Given the description of an element on the screen output the (x, y) to click on. 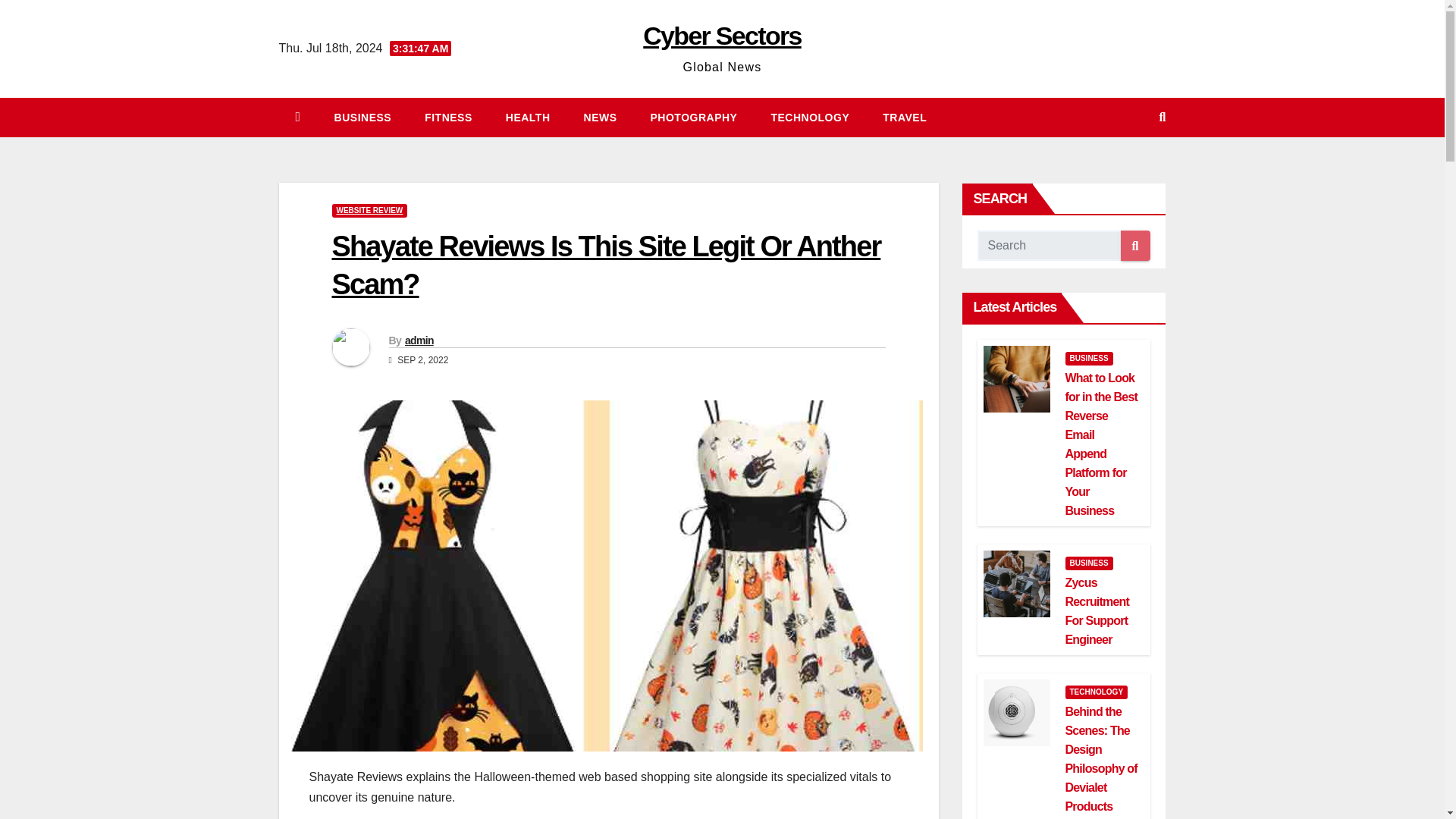
WEBSITE REVIEW (369, 210)
Shayate Reviews Is This Site Legit Or Anther Scam? (605, 264)
News (600, 117)
TRAVEL (904, 117)
FITNESS (448, 117)
photography (693, 117)
PHOTOGRAPHY (693, 117)
Travel (904, 117)
HEALTH (528, 117)
Cyber Sectors (721, 35)
admin (418, 340)
TECHNOLOGY (810, 117)
Business (363, 117)
NEWS (600, 117)
